Given the description of an element on the screen output the (x, y) to click on. 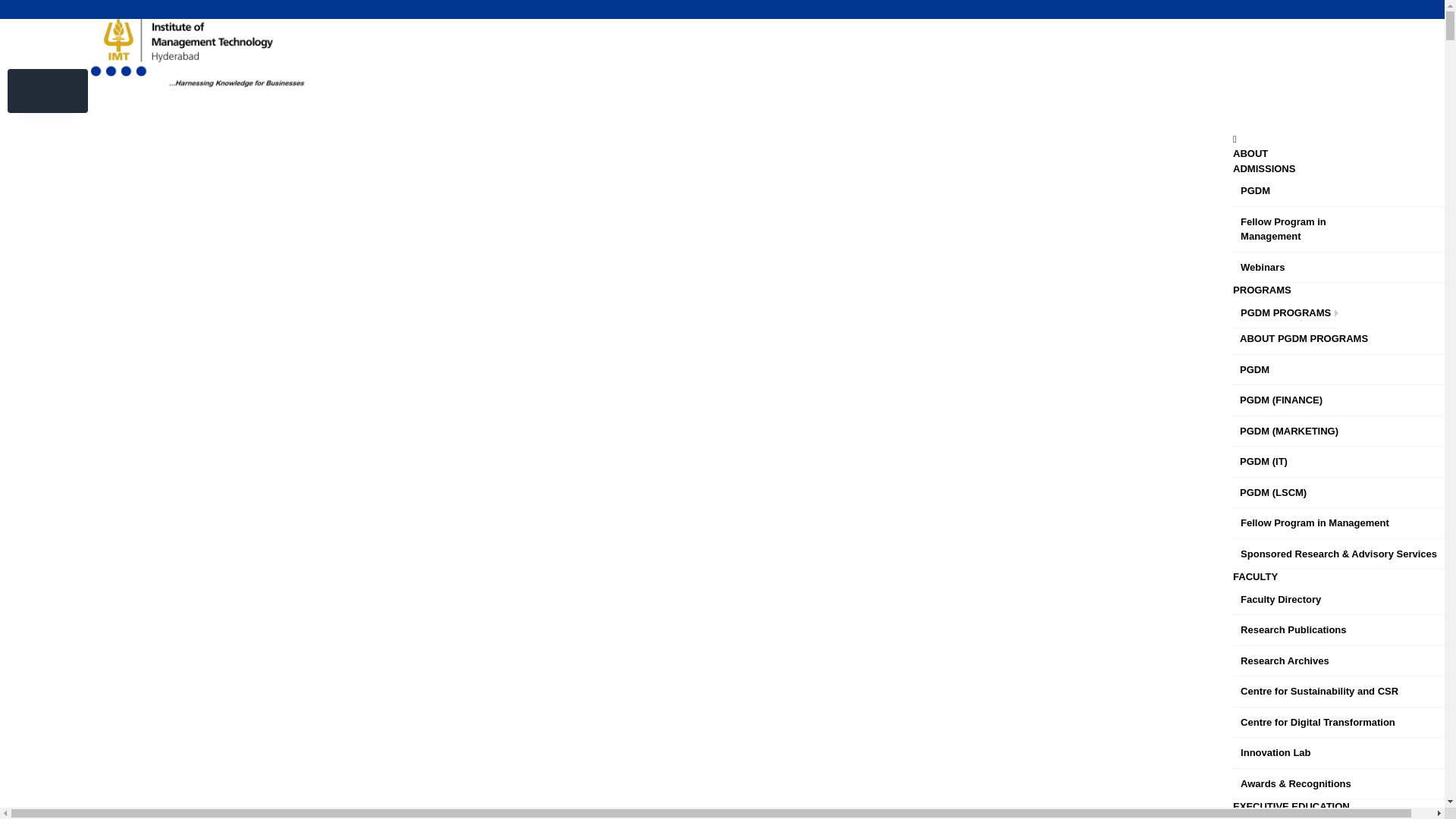
ABOUT PGDM PROGRAMS (1337, 338)
PGDM (1338, 191)
Faculty Directory (1338, 599)
ADMISSIONS (1264, 168)
Toggle navigation (47, 90)
Centre for Sustainability and CSR (1338, 691)
PGDM PROGRAMS (1285, 313)
Future Leaders Program (1302, 816)
Webinars (1338, 267)
Innovation Lab (1338, 753)
Research Archives (1338, 661)
PGDM (1337, 369)
Centre for Digital Transformation (1338, 722)
FACULTY (1255, 576)
ABOUT (1250, 153)
